Given the description of an element on the screen output the (x, y) to click on. 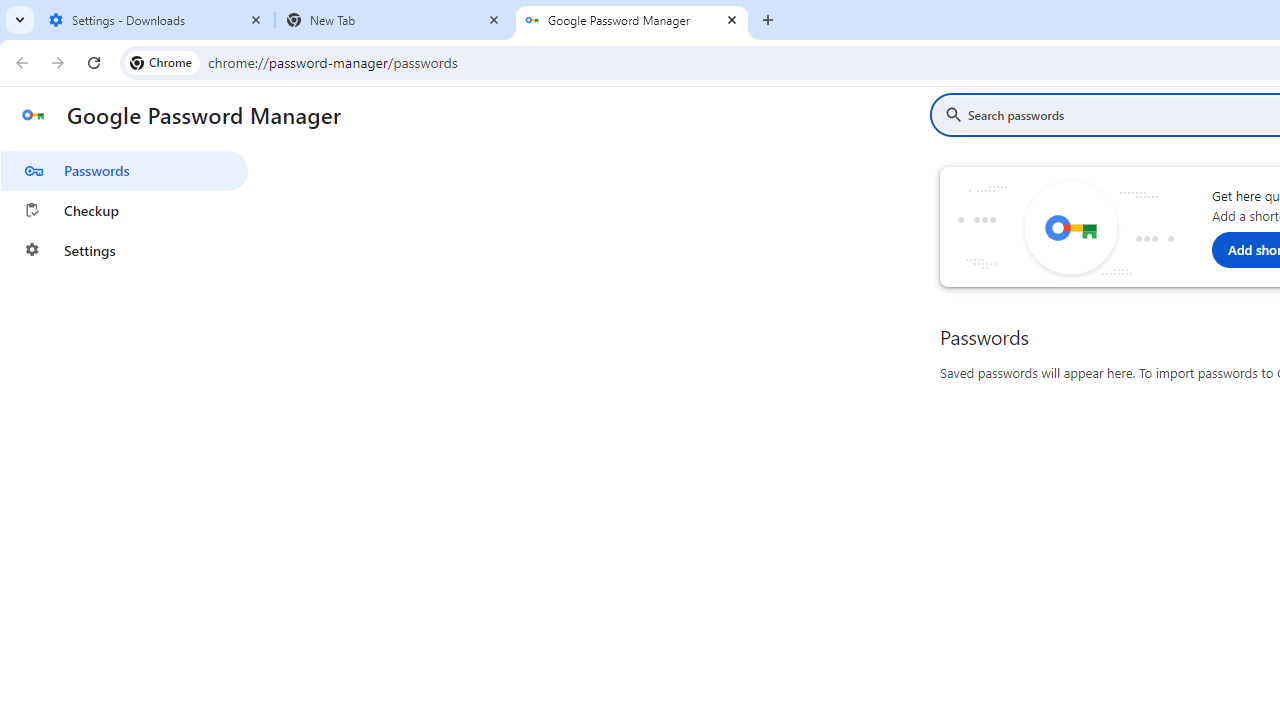
Checkup (124, 210)
New Tab (394, 20)
Settings (124, 250)
Settings - Downloads (156, 20)
Passwords (124, 170)
Google Password Manager (632, 20)
